Given the description of an element on the screen output the (x, y) to click on. 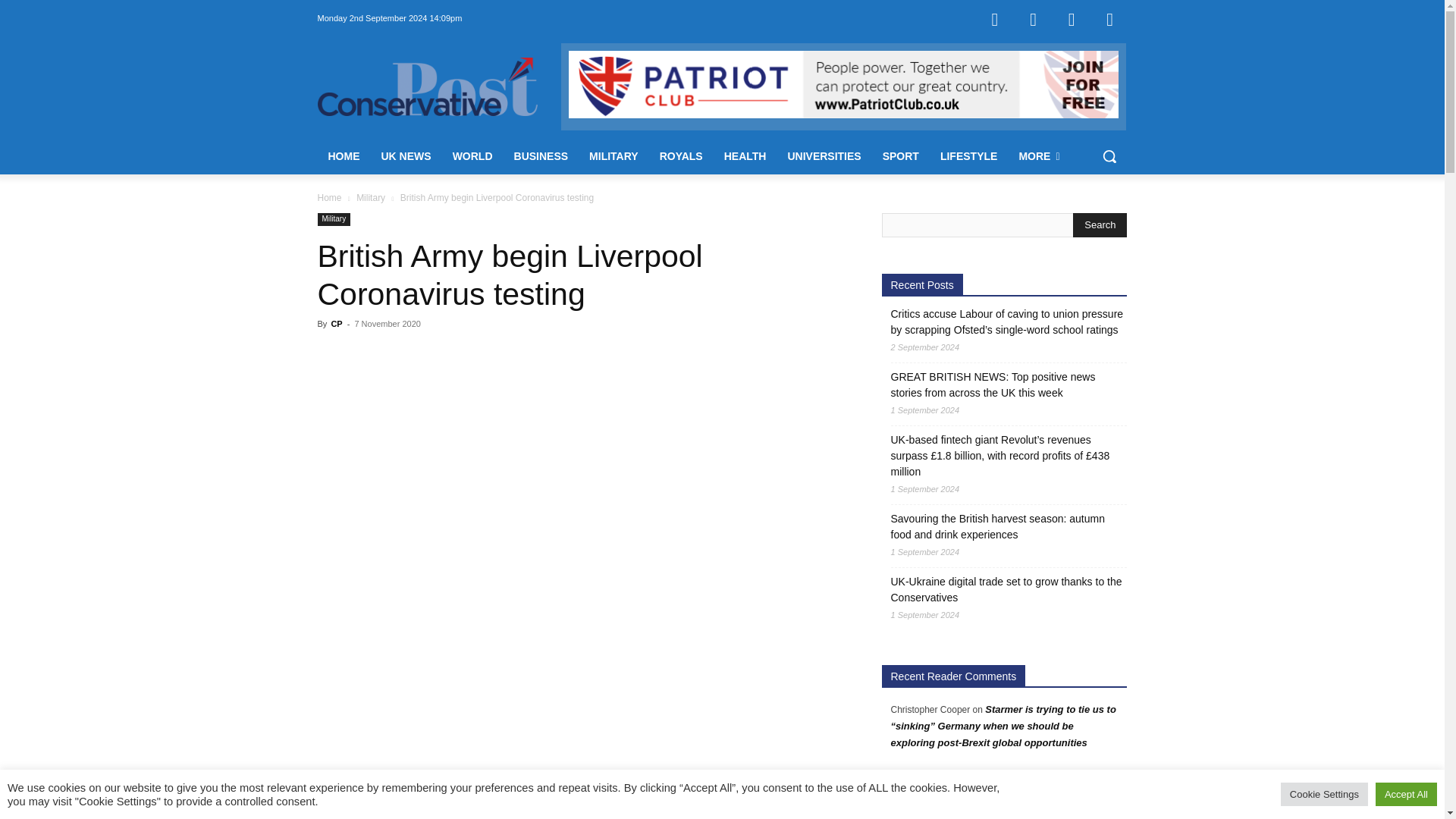
Search (1099, 224)
BUSINESS (541, 156)
WORLD (472, 156)
LIFESTYLE (968, 156)
Conservative Post (438, 86)
Military (370, 197)
Home (328, 197)
UK NEWS (405, 156)
UNIVERSITIES (823, 156)
HEALTH (745, 156)
